Given the description of an element on the screen output the (x, y) to click on. 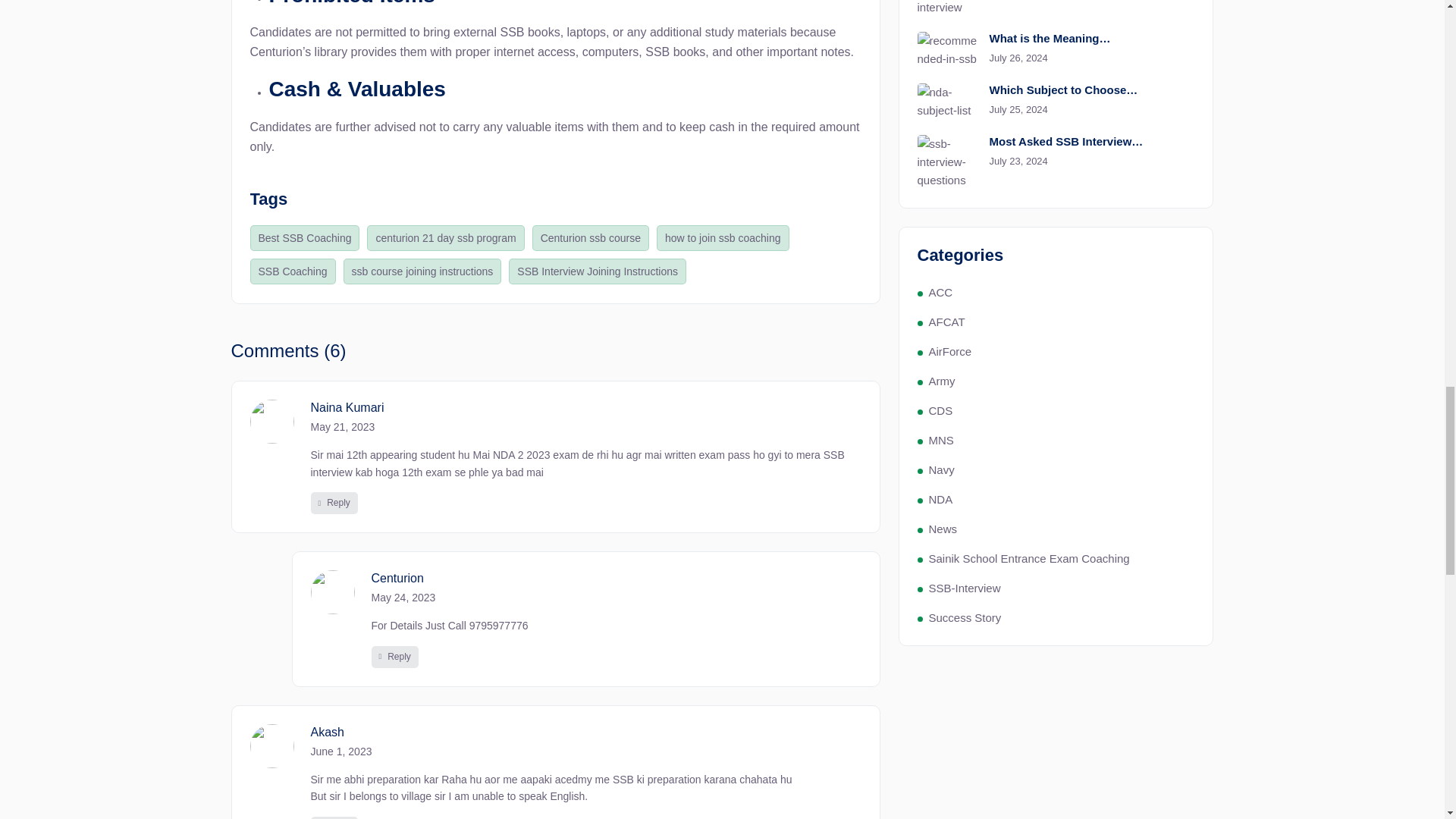
Centurion (616, 578)
Centurion ssb course (590, 237)
ssb course joining instructions (422, 271)
Best SSB Coaching (304, 237)
Reply (334, 817)
SSB Interview Joining Instructions (596, 271)
Reply (395, 657)
how to join ssb coaching (722, 237)
Naina Kumari (586, 407)
centurion 21 day ssb program (445, 237)
Reply (334, 503)
SSB Coaching (293, 271)
Akash (586, 731)
